Given the description of an element on the screen output the (x, y) to click on. 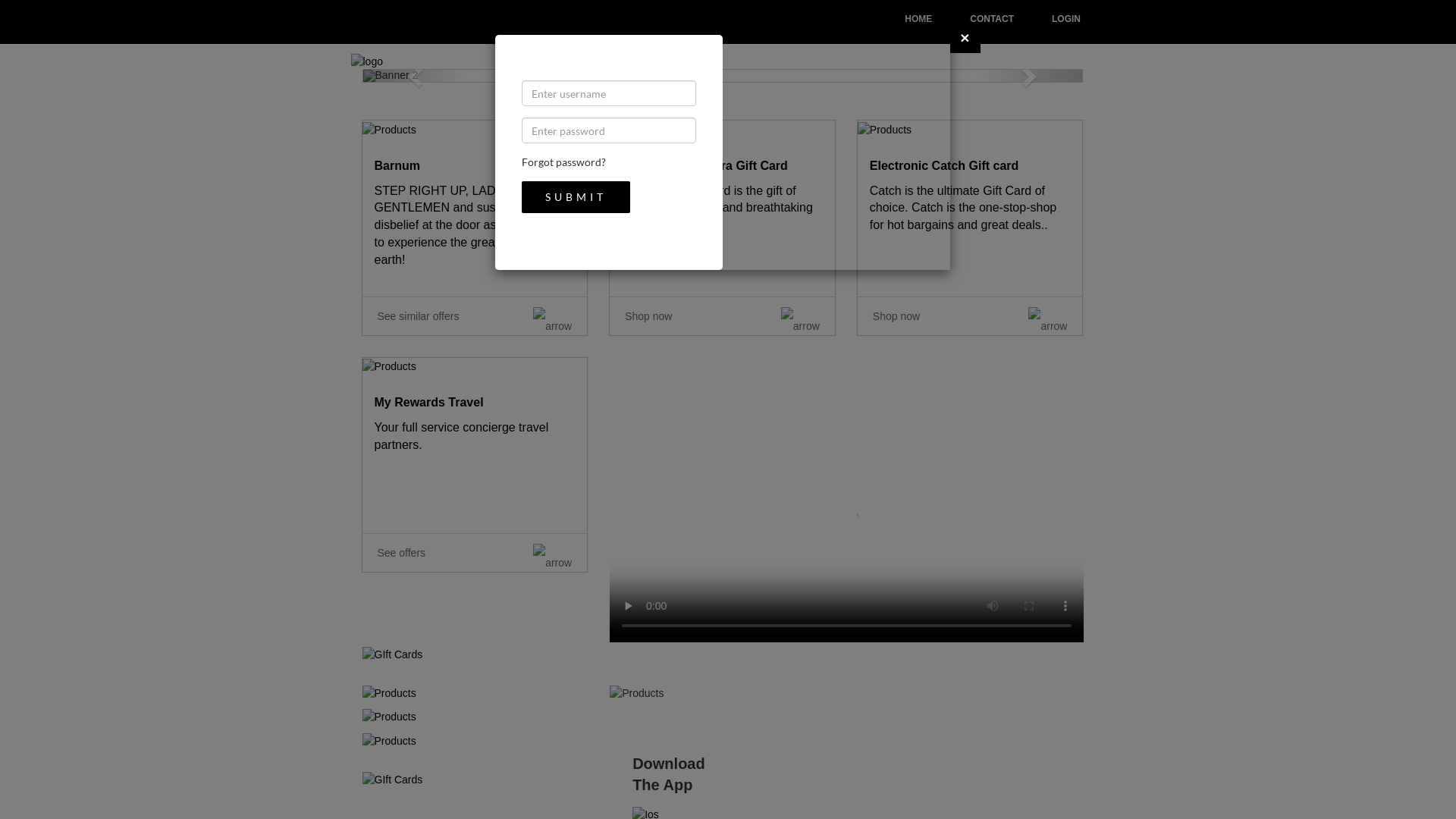
Shop now Element type: text (721, 315)
See offers Element type: text (474, 552)
CONTACT Element type: text (991, 18)
See similar offers Element type: text (474, 315)
Shop now Element type: text (969, 315)
SUBMIT Element type: text (575, 197)
LOGIN Element type: text (1065, 18)
Forgot password? Element type: text (563, 161)
HOME Element type: text (917, 18)
Previous Element type: text (416, 75)
Next Element type: text (1027, 75)
